Given the description of an element on the screen output the (x, y) to click on. 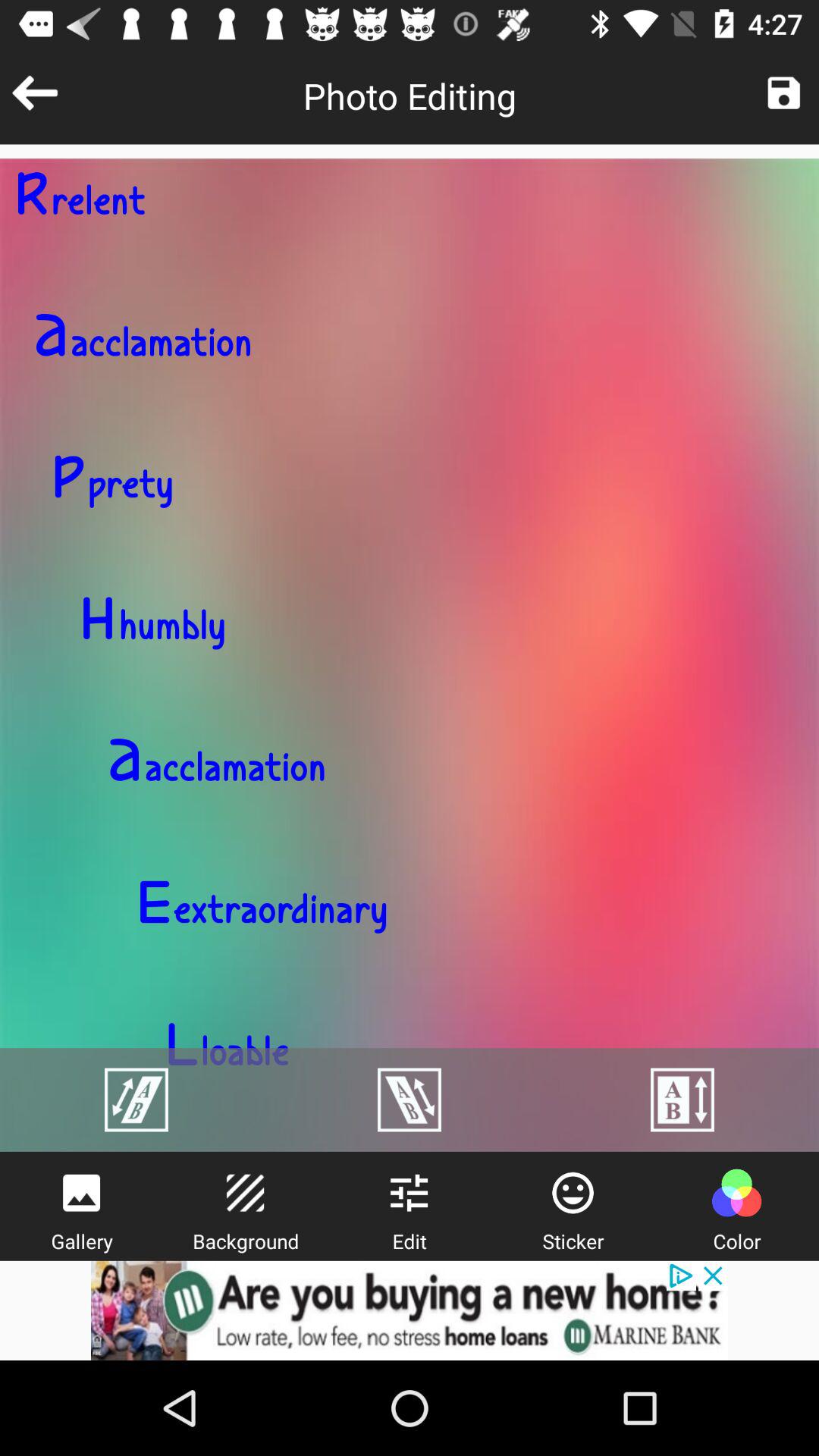
go to previous (34, 92)
